Given the description of an element on the screen output the (x, y) to click on. 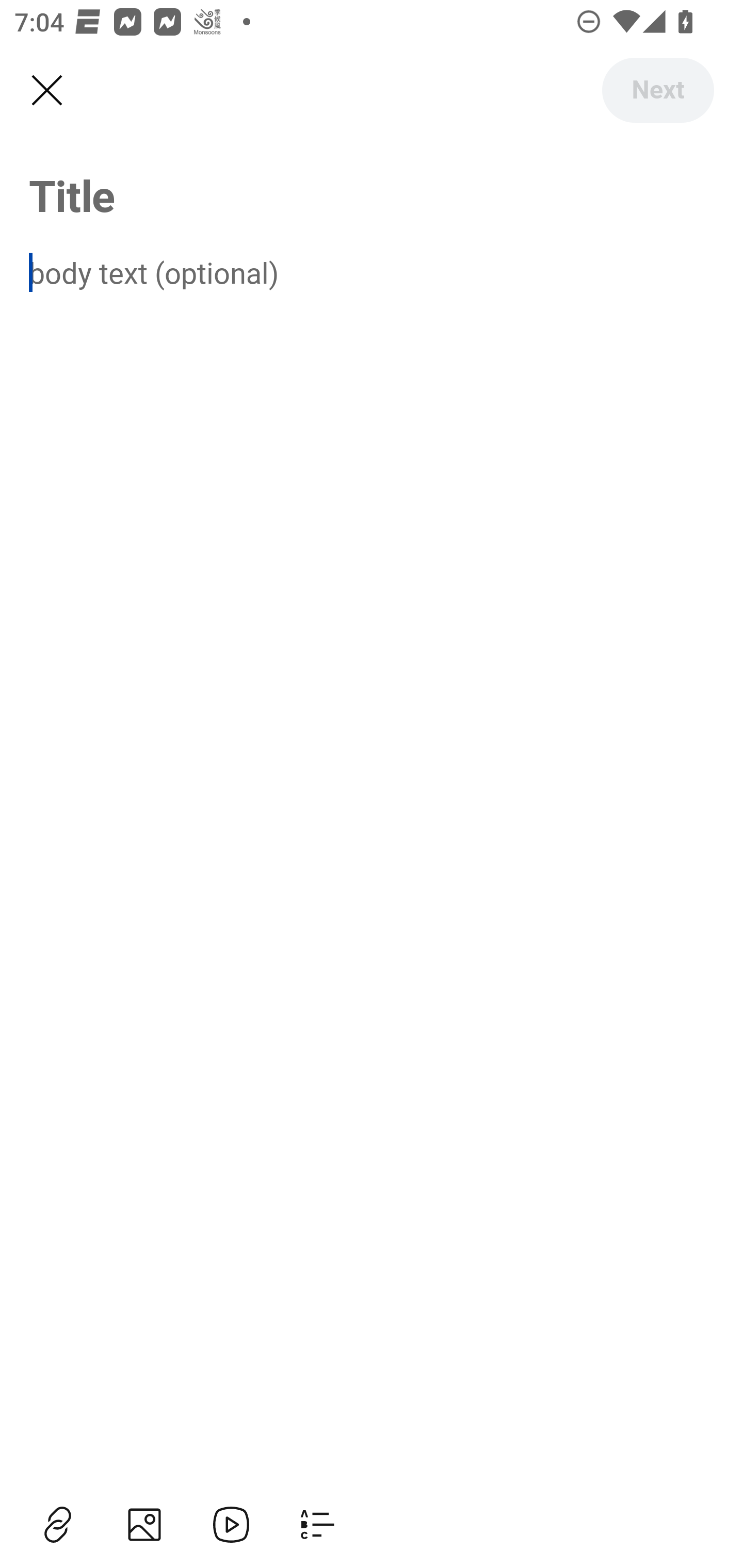
Close (46, 90)
Next (657, 90)
Post title (371, 195)
body text (optional) (371, 271)
